Given the description of an element on the screen output the (x, y) to click on. 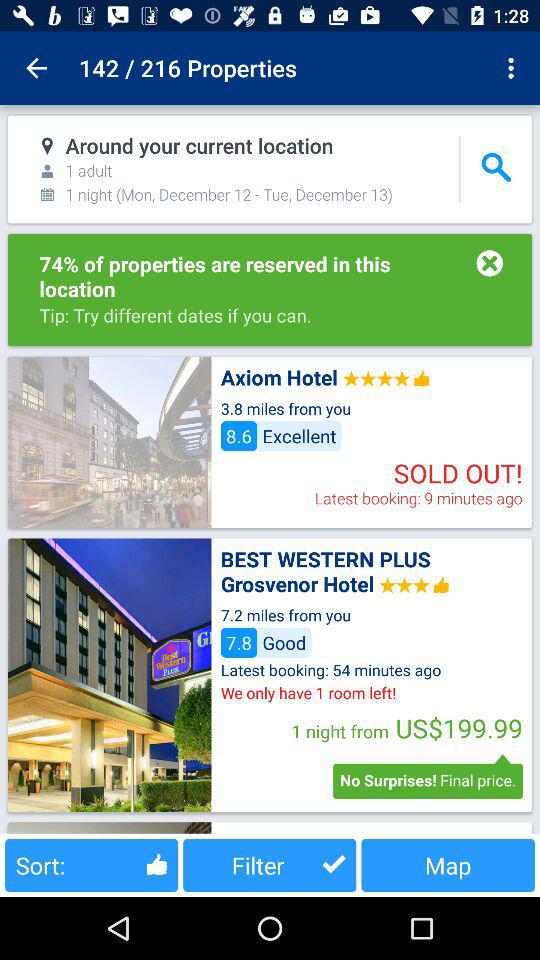
select picture (109, 442)
